Given the description of an element on the screen output the (x, y) to click on. 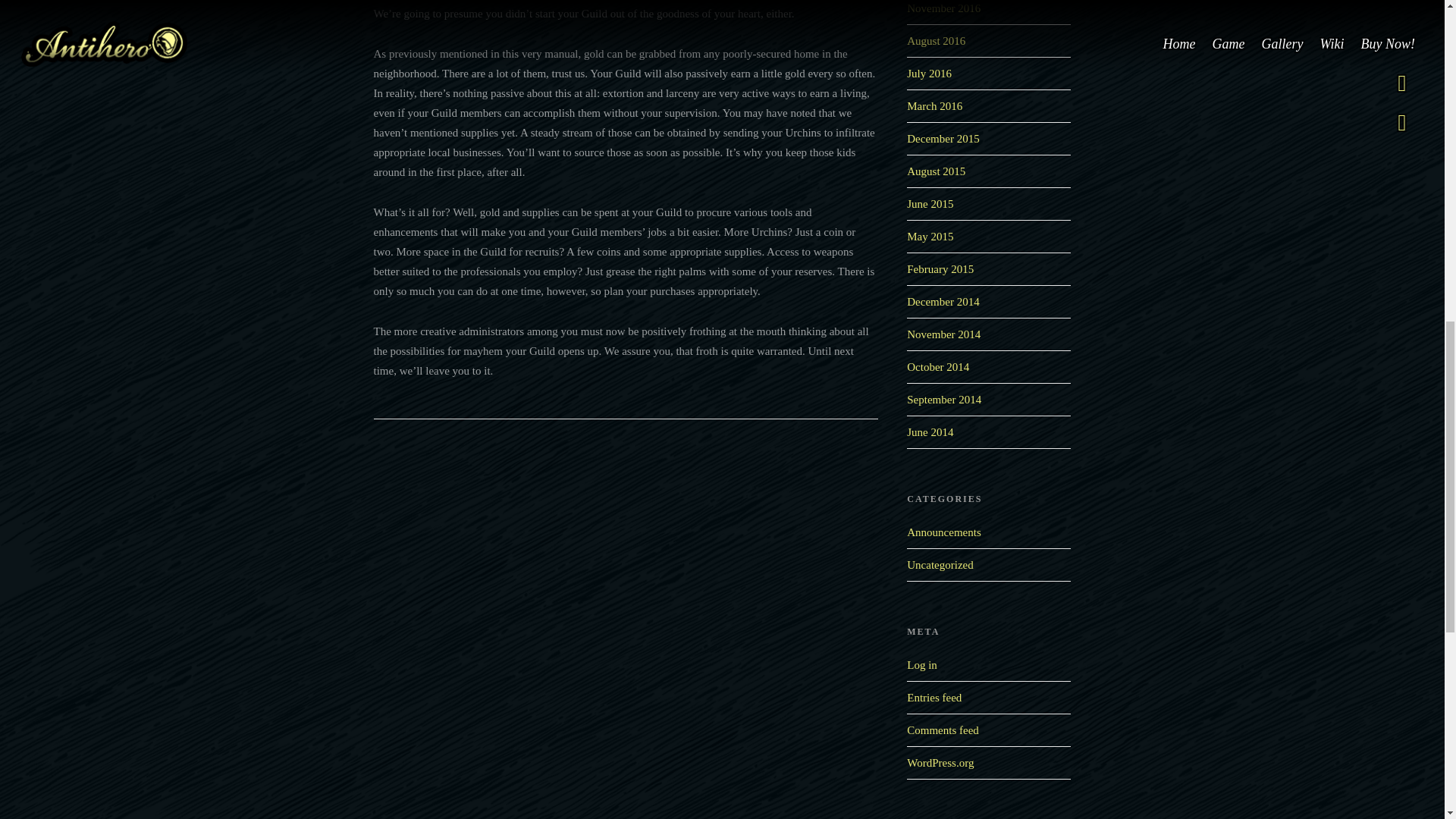
August 2015 (936, 171)
May 2015 (930, 236)
March 2016 (934, 105)
July 2016 (929, 73)
February 2015 (940, 268)
December 2015 (942, 138)
June 2015 (930, 203)
December 2014 (942, 301)
August 2016 (936, 40)
November 2016 (943, 8)
